Given the description of an element on the screen output the (x, y) to click on. 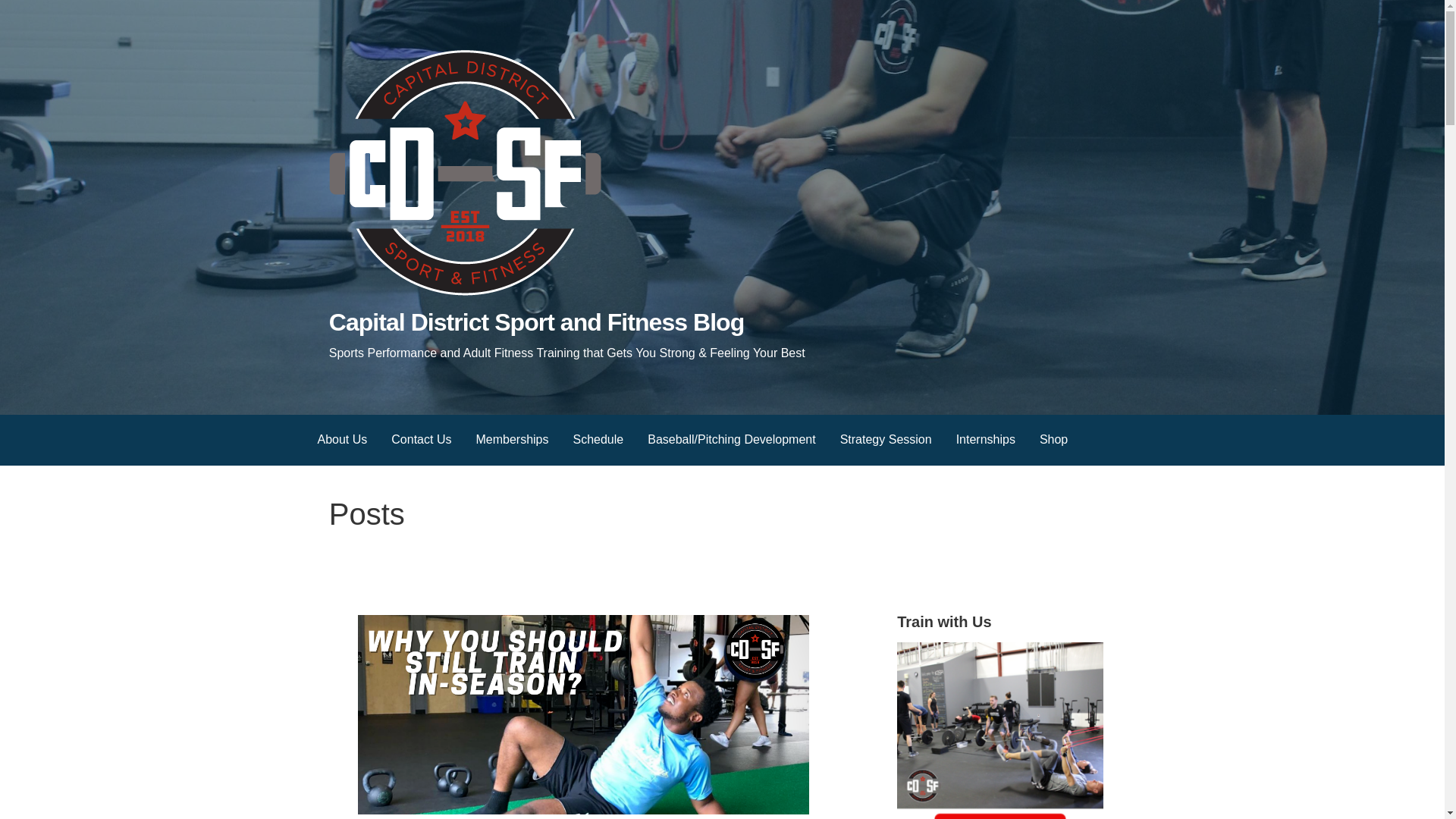
Memberships (511, 440)
About Us (341, 440)
Capital District Sport and Fitness Blog (536, 321)
Search (31, 15)
Shop (1053, 440)
Strategy Session (885, 440)
Internships (985, 440)
Contact Us (420, 440)
Schedule (597, 440)
